Given the description of an element on the screen output the (x, y) to click on. 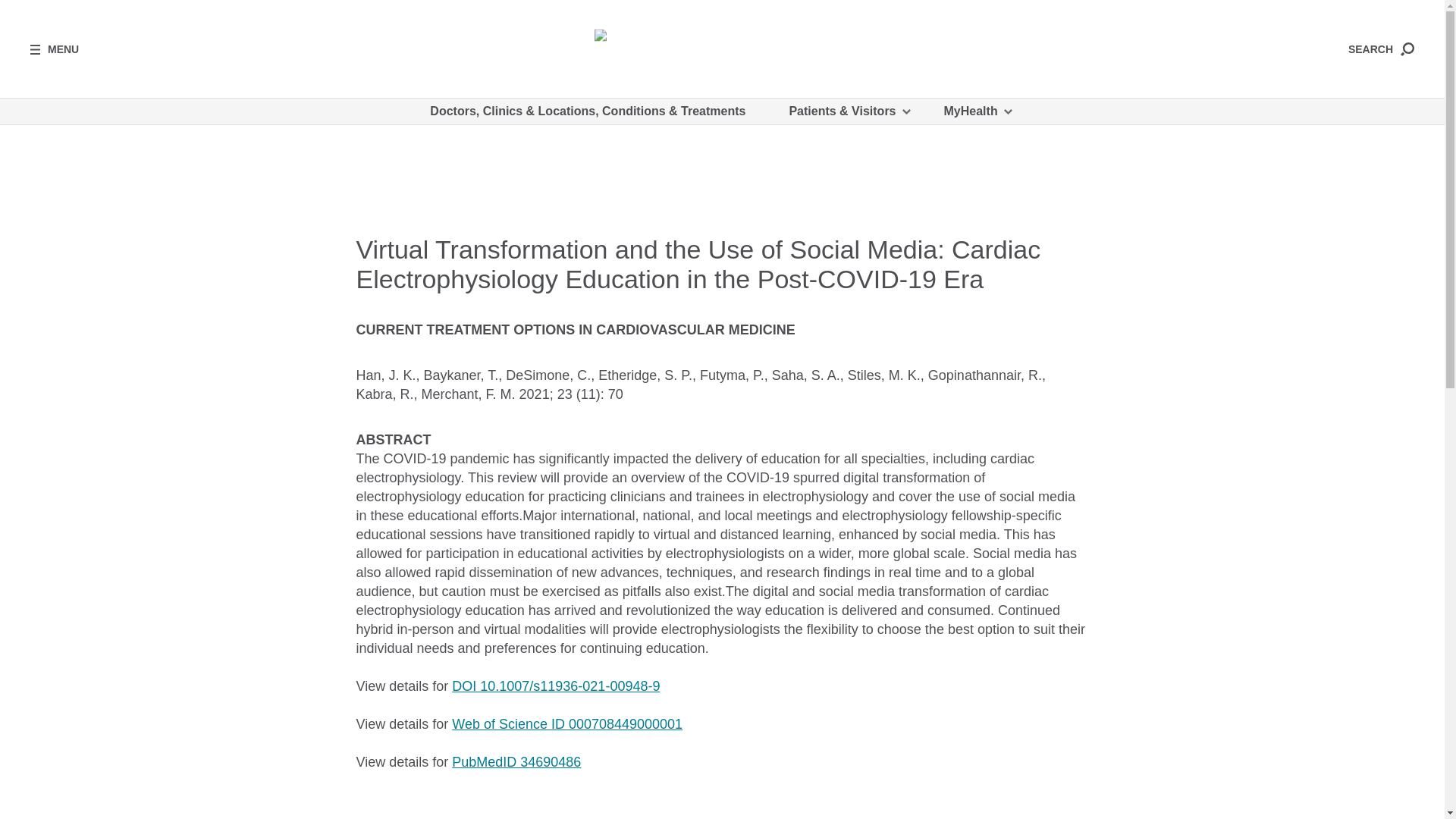
MENU (54, 49)
MyHealth (976, 110)
SEARCH (1380, 49)
